Given the description of an element on the screen output the (x, y) to click on. 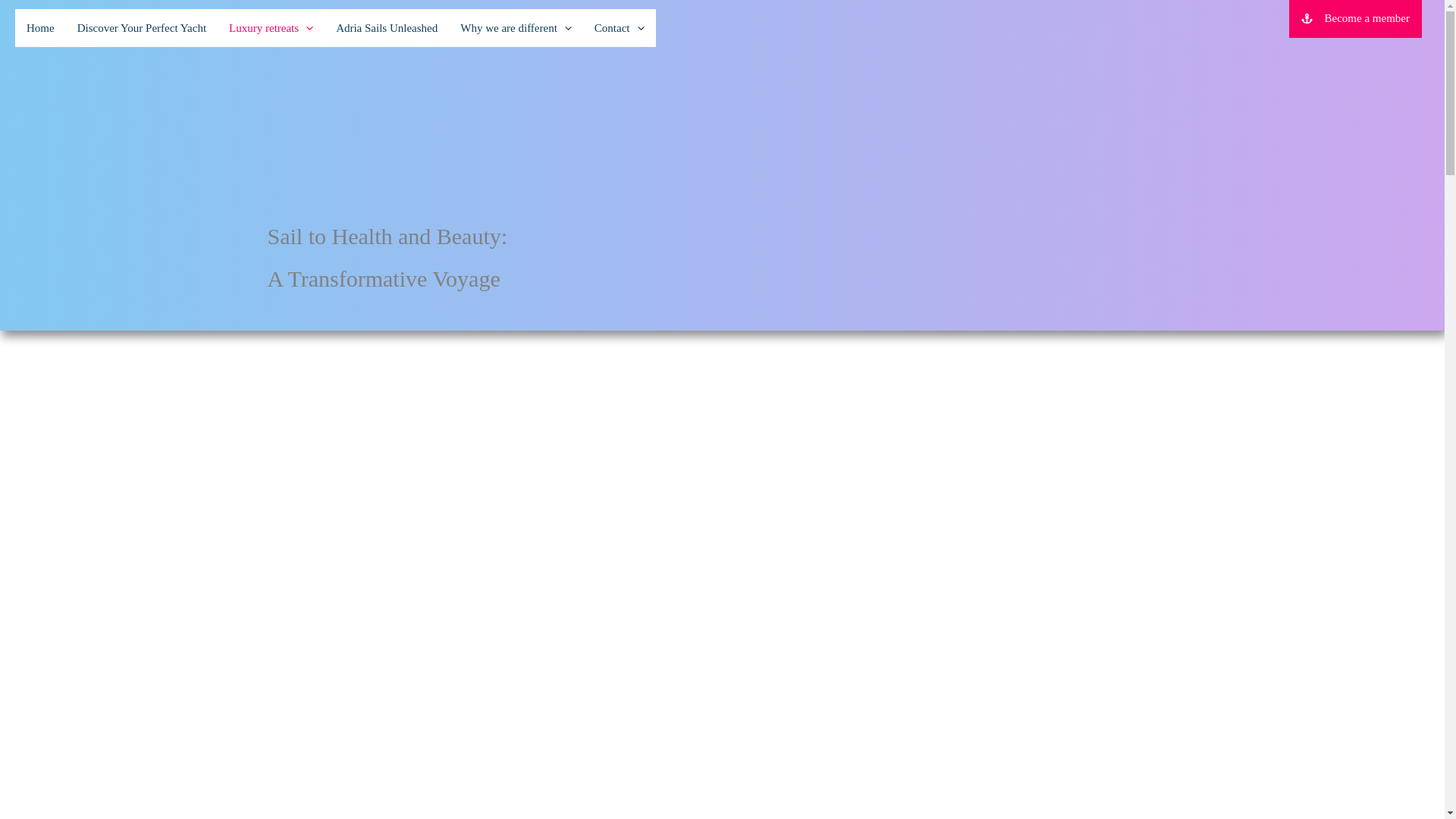
Adria Sails Unleashed (386, 27)
Contact (619, 27)
Luxury retreats (270, 27)
Home (39, 27)
Discover Your Perfect Yacht (140, 27)
Become a member (1355, 18)
Why we are different (515, 27)
